Given the description of an element on the screen output the (x, y) to click on. 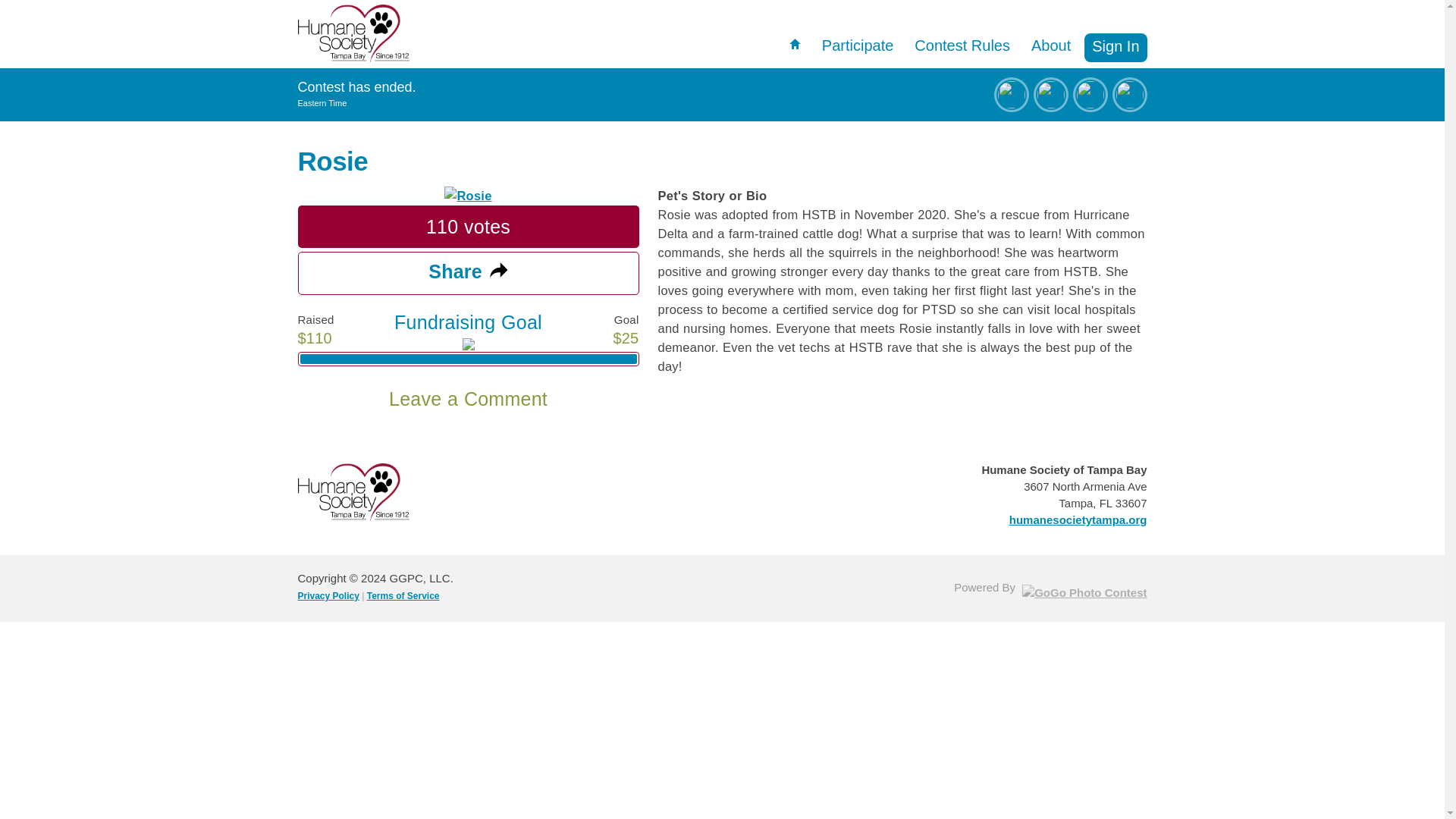
Sign In (1115, 47)
About (1050, 50)
Participate (857, 50)
Contest Rules (962, 50)
Privacy Policy (327, 595)
Rosie (468, 195)
home (794, 43)
Share (468, 272)
Terms of Service (402, 595)
GoGo Photo Contest (1084, 591)
